Given the description of an element on the screen output the (x, y) to click on. 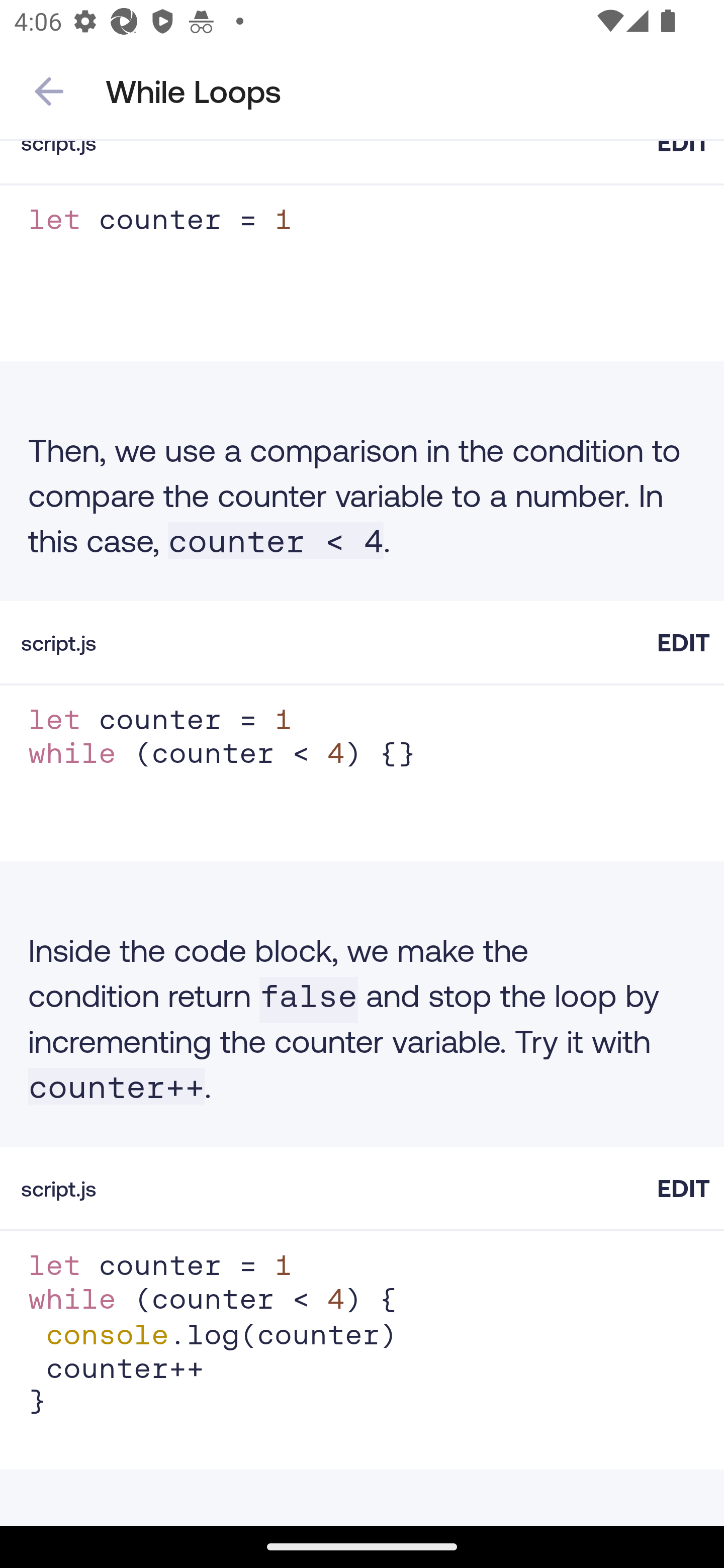
Navigate up (49, 91)
EDIT (683, 642)
EDIT (683, 1187)
